Given the description of an element on the screen output the (x, y) to click on. 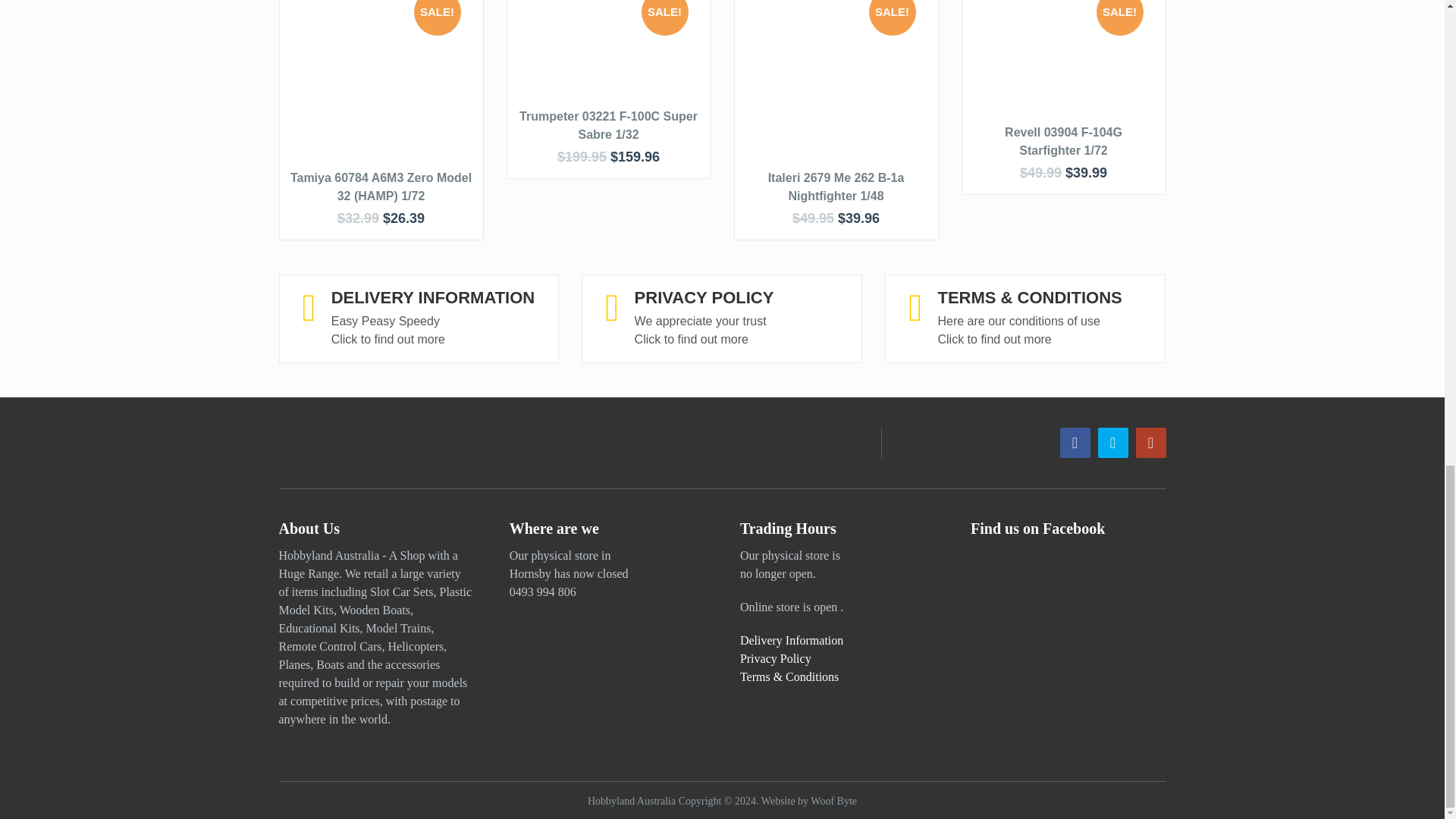
MasterCard (356, 442)
Youtube (1150, 442)
Visa (411, 442)
PayPal (302, 442)
Twitter (1112, 442)
The Hobby Specialist (631, 800)
Facebook (1074, 442)
